Given the description of an element on the screen output the (x, y) to click on. 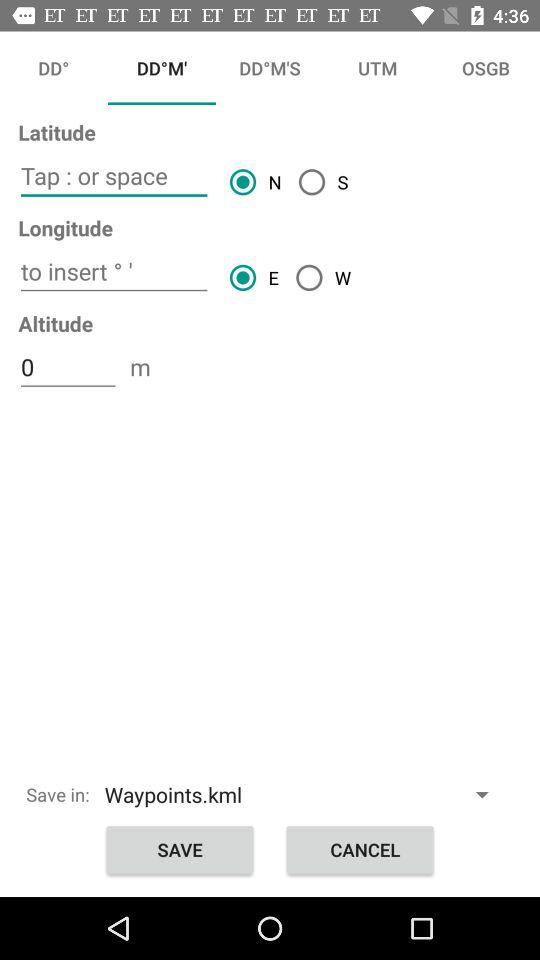
enter latitude (113, 175)
